Given the description of an element on the screen output the (x, y) to click on. 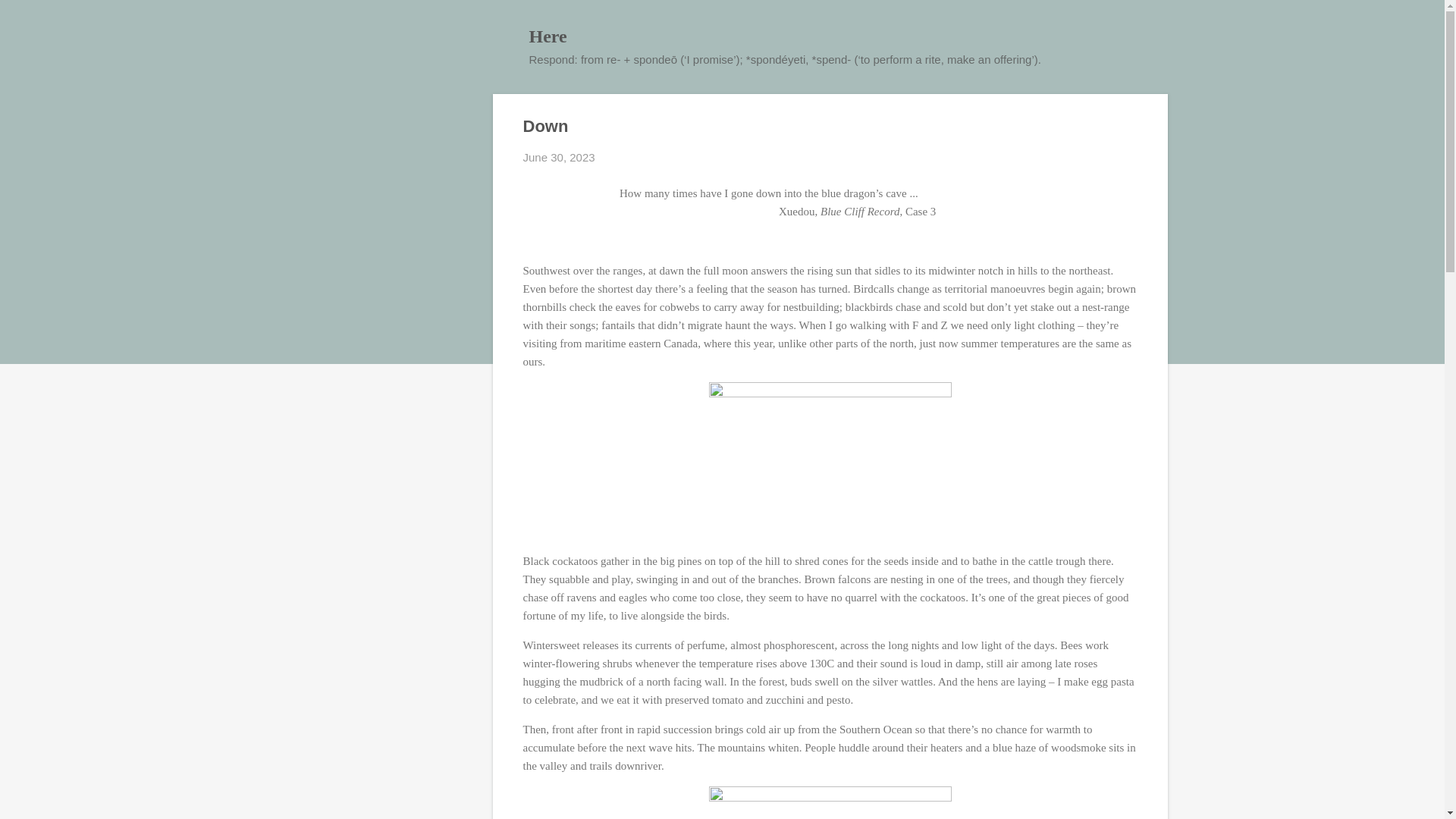
Here (548, 35)
June 30, 2023 (558, 156)
permanent link (558, 156)
